Given the description of an element on the screen output the (x, y) to click on. 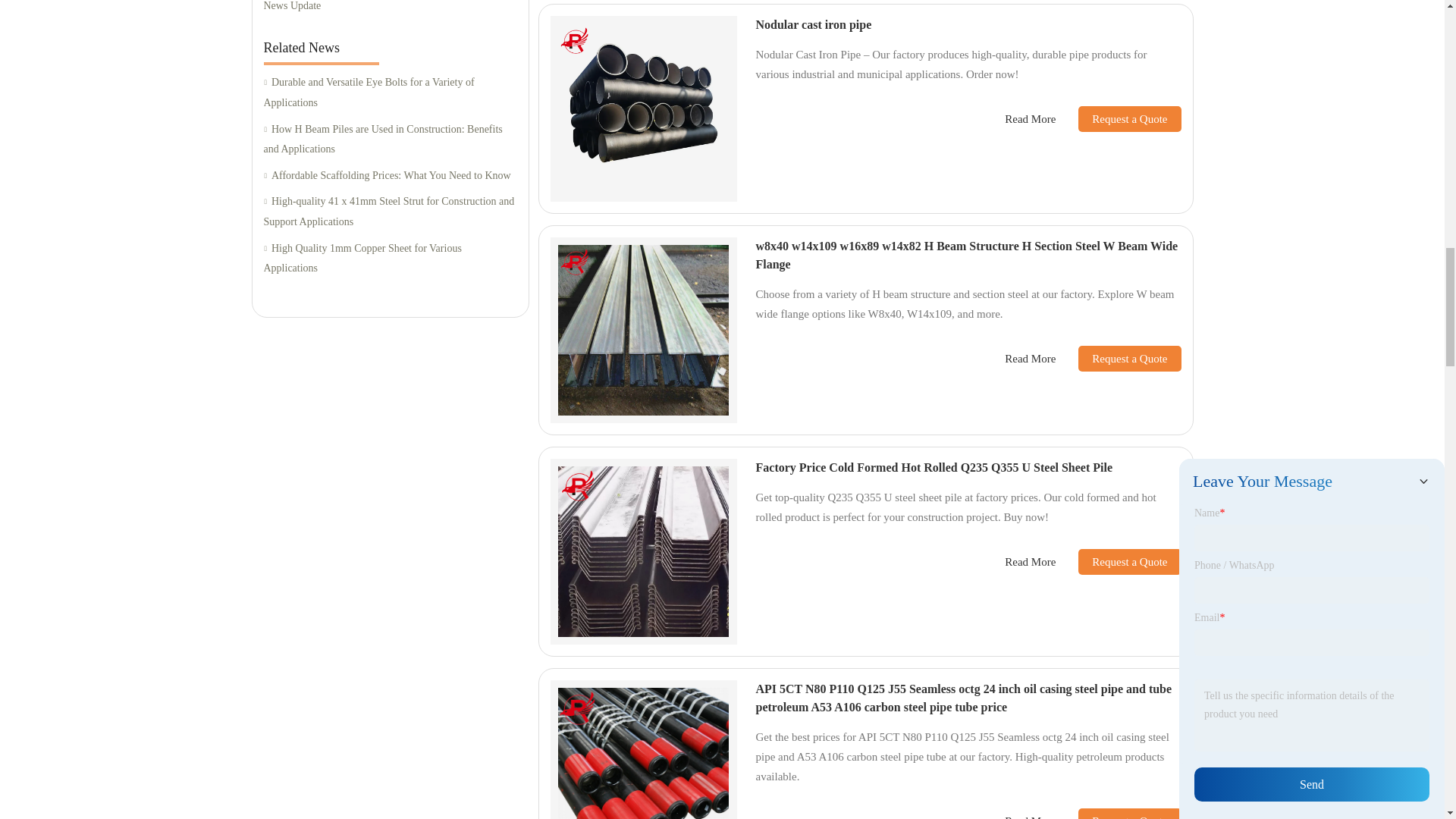
Affordable Scaffolding Prices: What You Need to Know (389, 176)
High Quality 1mm Copper Sheet for Various Applications (389, 259)
